Given the description of an element on the screen output the (x, y) to click on. 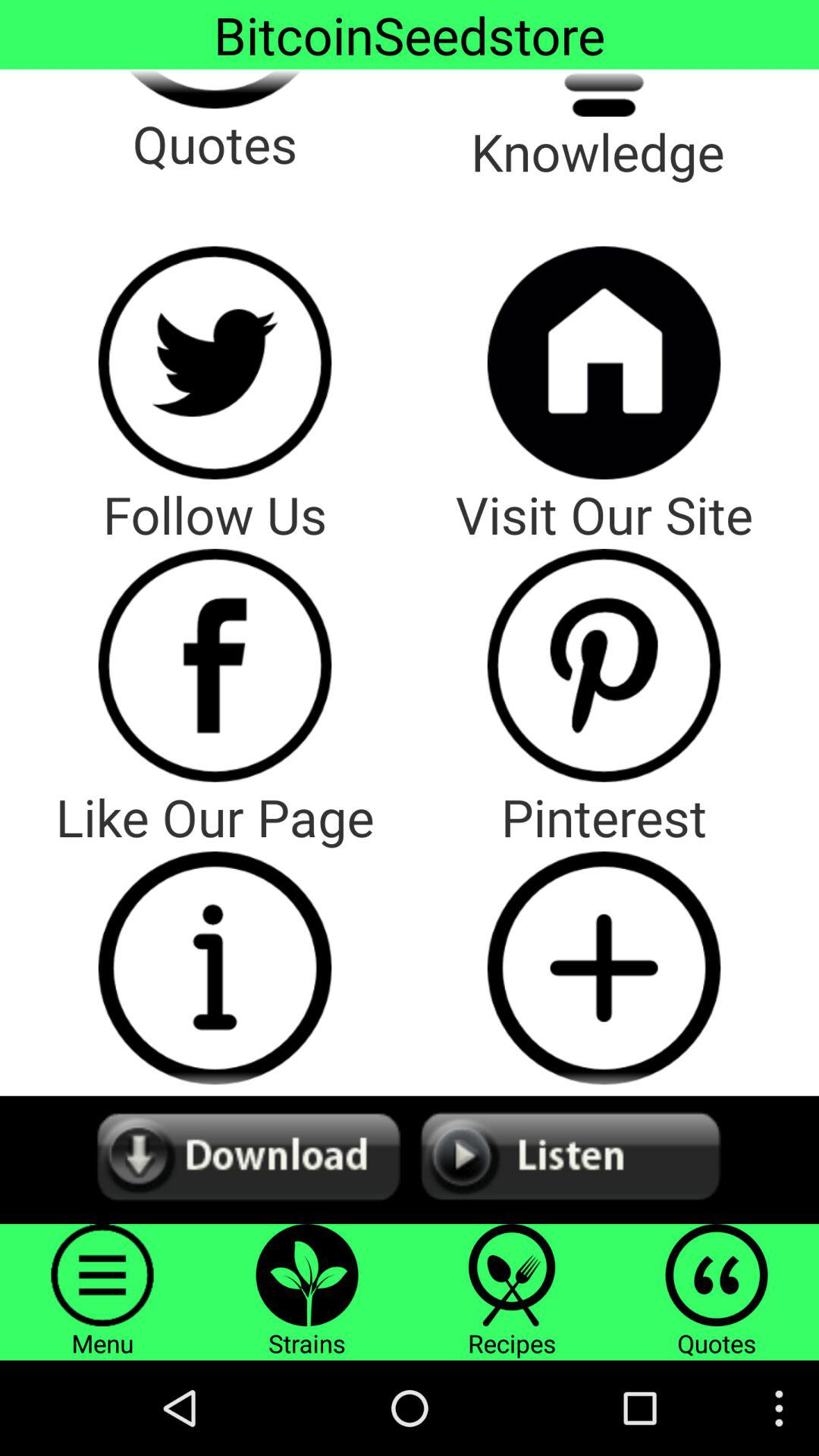
view firm 's pinterest page (603, 665)
